Given the description of an element on the screen output the (x, y) to click on. 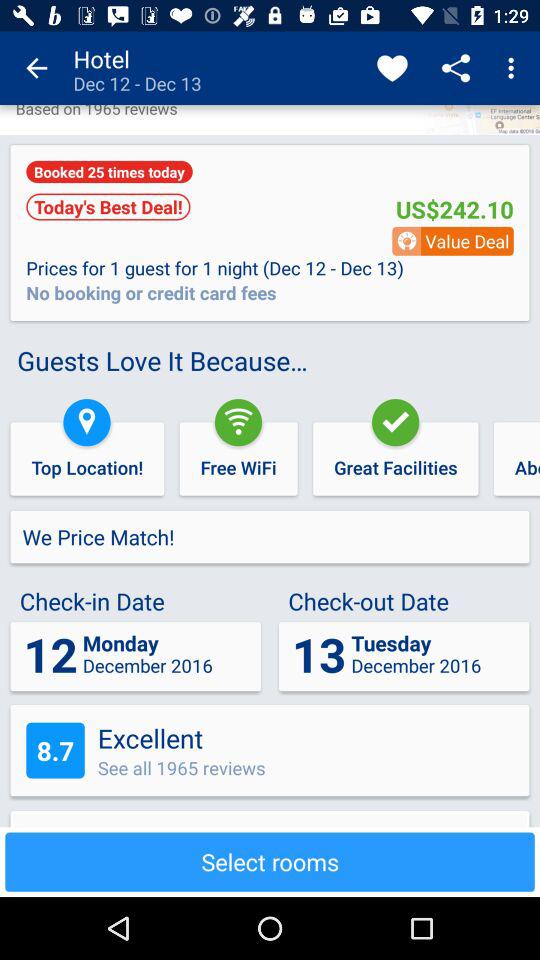
select the icon above the based on 1965 item (36, 68)
